Given the description of an element on the screen output the (x, y) to click on. 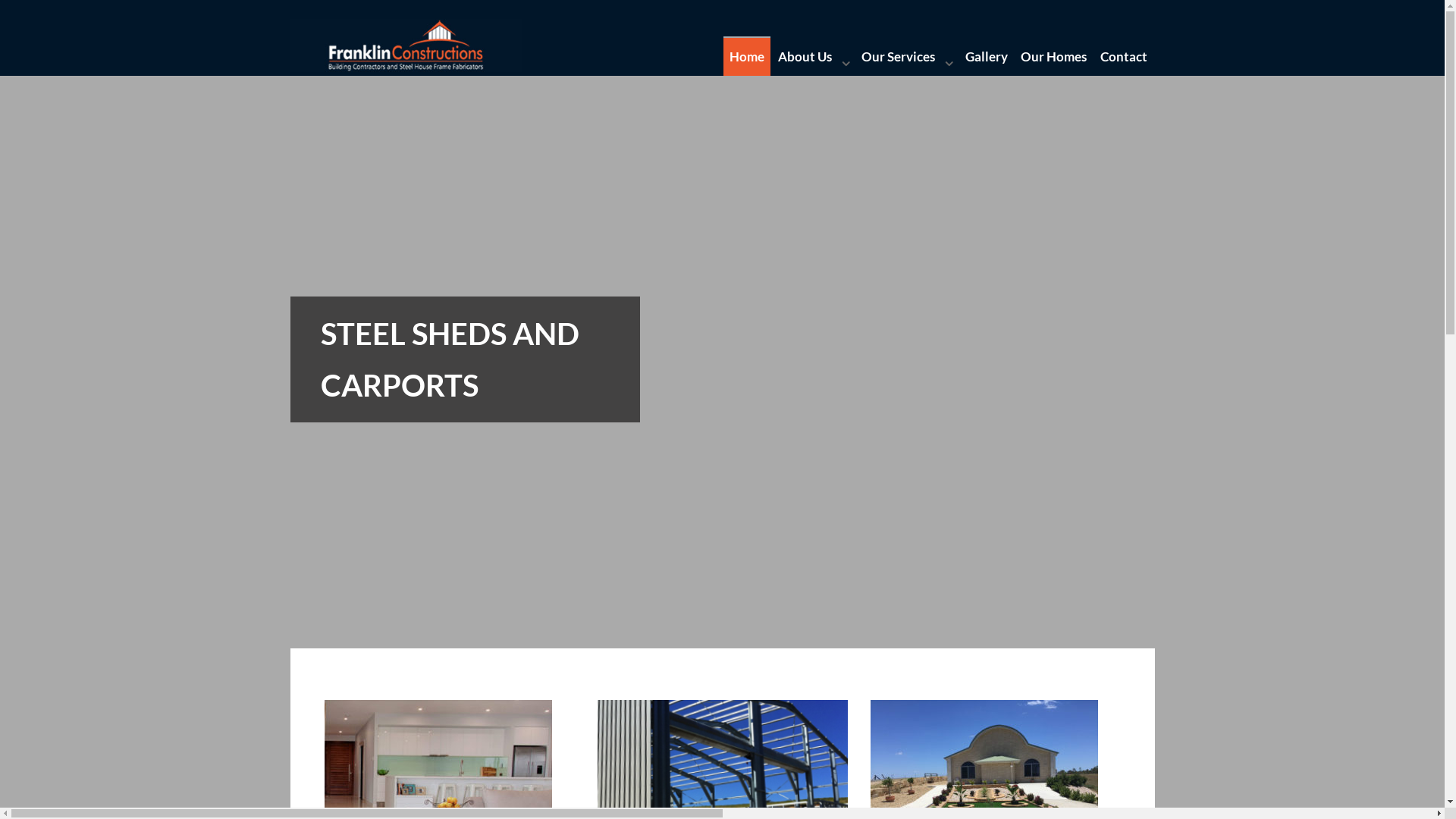
Contact Element type: text (1124, 56)
Our Services Element type: text (906, 56)
Home Element type: text (747, 56)
About Us Element type: text (812, 56)
Gallery Element type: text (985, 56)
STEEL HOMES AND
PACKAGES Element type: text (721, 511)
Our Homes Element type: text (1053, 56)
